Given the description of an element on the screen output the (x, y) to click on. 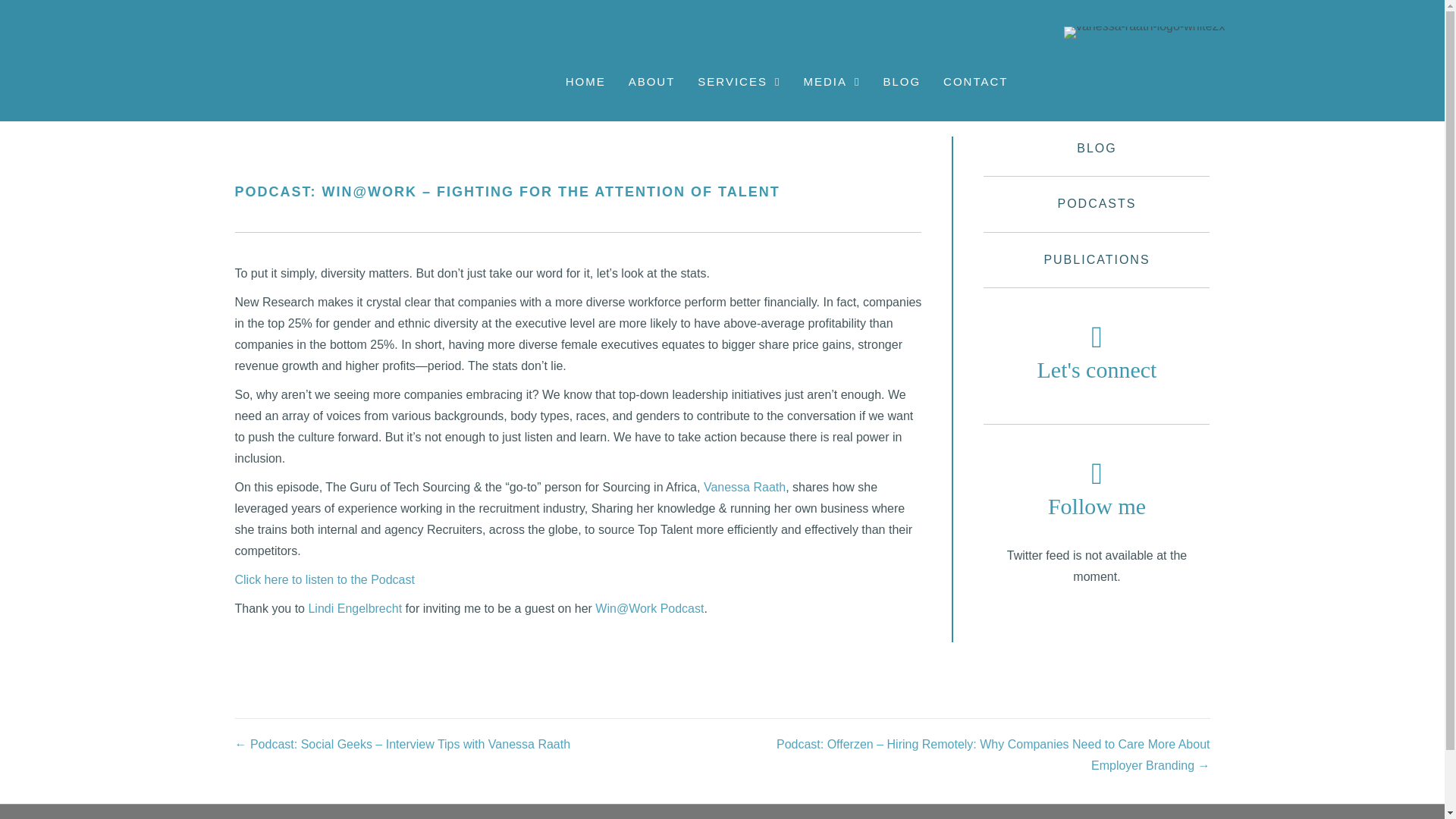
vanessa-raath-logo-white2x (1144, 32)
ABOUT (651, 81)
BLOG (1096, 147)
HOME (584, 81)
BLOG (901, 81)
SERVICES (738, 81)
MEDIA (830, 81)
CONTACT (975, 81)
PODCASTS (1096, 203)
PUBLICATIONS (1096, 259)
